Given the description of an element on the screen output the (x, y) to click on. 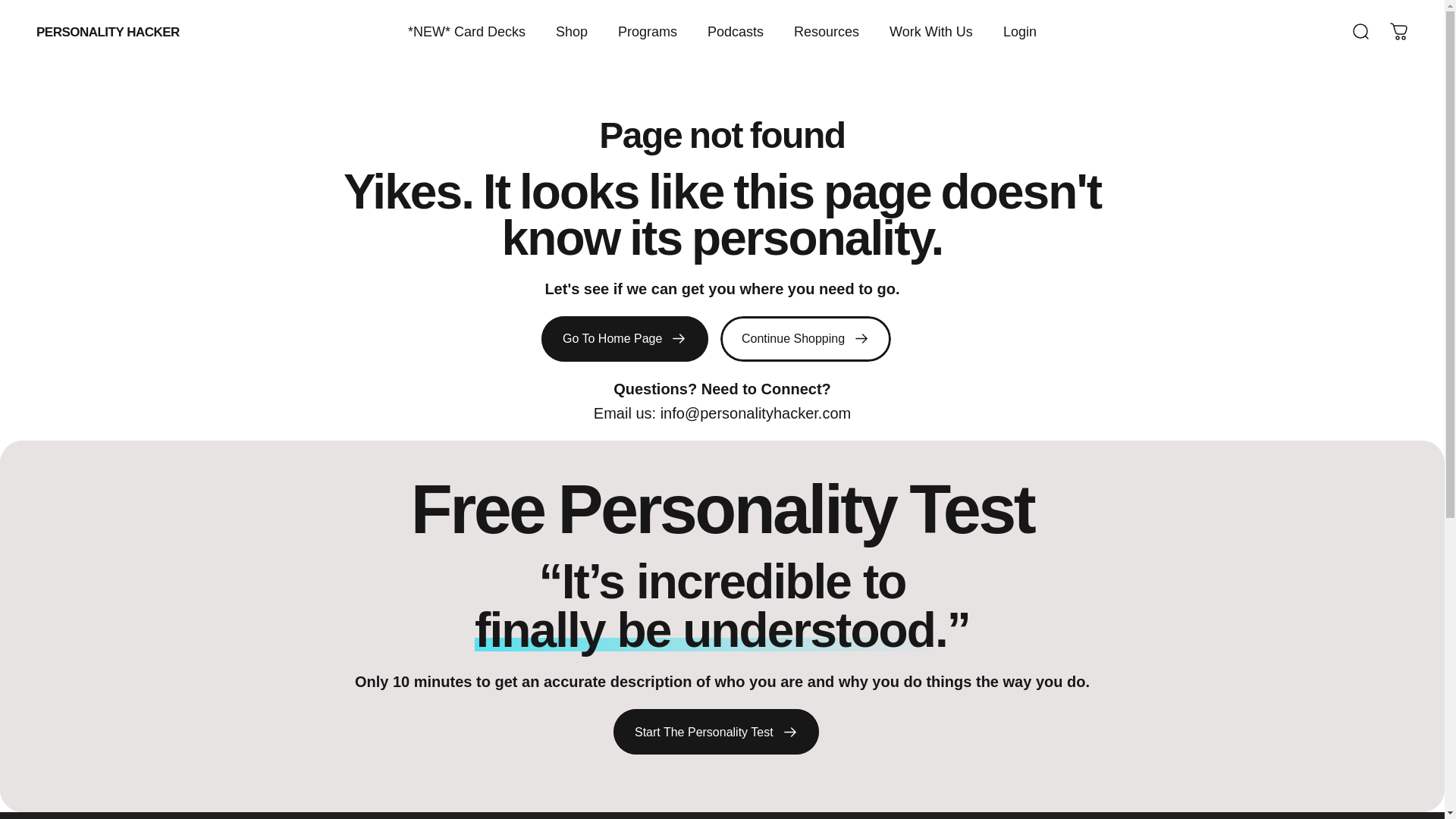
Shop (571, 31)
Go To Home Page (624, 338)
PERSONALITY HACKER (107, 31)
Search (1360, 31)
Continue Shopping (805, 338)
Start The Personality Test (715, 731)
Cart (1398, 31)
Login (1019, 31)
